Given the description of an element on the screen output the (x, y) to click on. 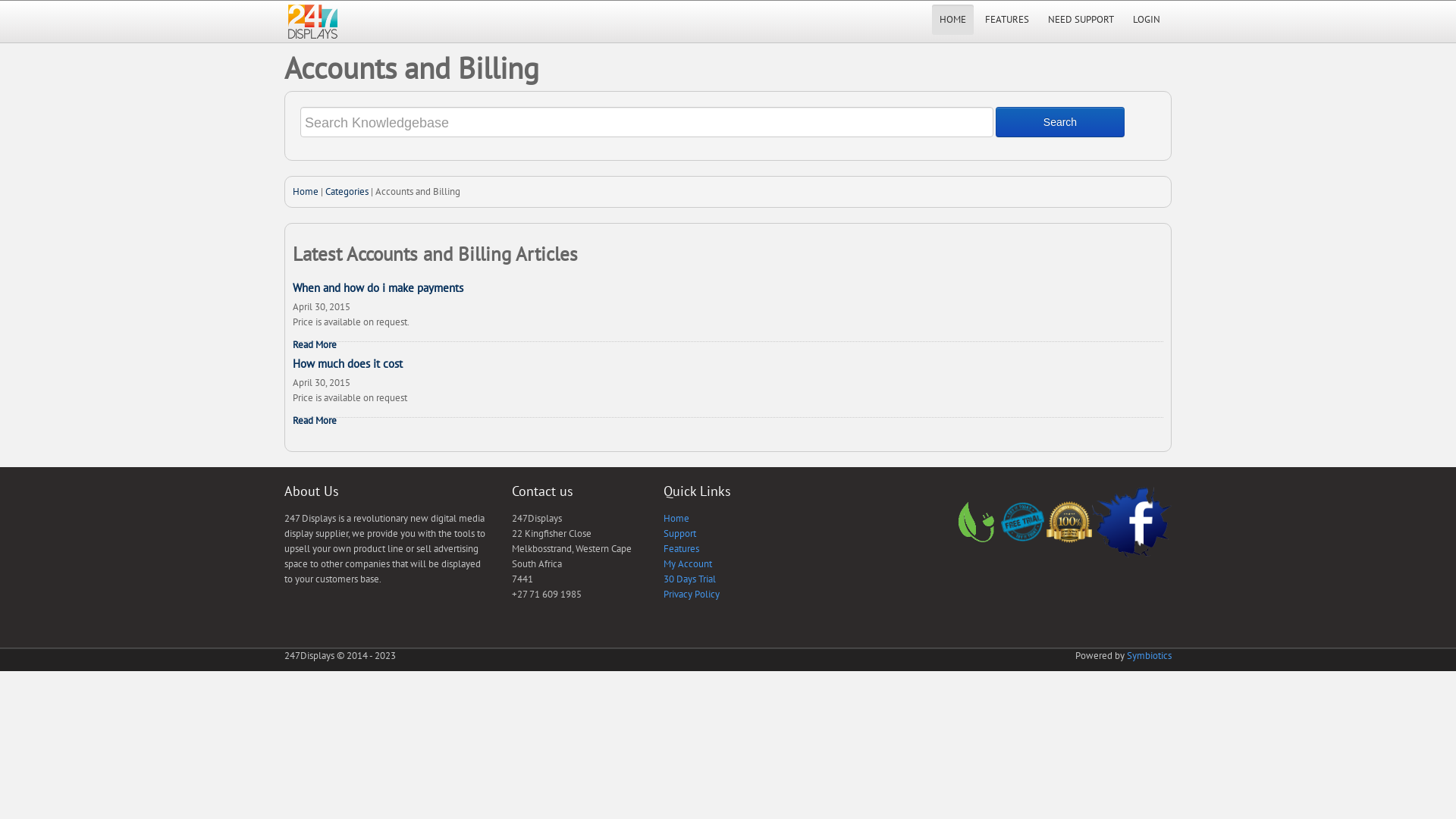
HOME Element type: text (952, 19)
NEED SUPPORT Element type: text (1080, 19)
30 Days Trial Element type: text (689, 578)
Symbiotics Element type: text (1148, 655)
Search Element type: text (1059, 121)
Features Element type: text (681, 548)
Privacy Policy Element type: text (691, 593)
Read More Element type: text (314, 420)
My Account Element type: text (687, 563)
When and how do i make payments Element type: text (377, 287)
FEATURES Element type: text (1006, 19)
How much does it cost Element type: text (347, 363)
Categories Element type: text (346, 191)
LOGIN Element type: text (1146, 19)
Read More Element type: text (314, 344)
Home Element type: text (676, 517)
Home Element type: text (305, 191)
Support Element type: text (679, 533)
